Given the description of an element on the screen output the (x, y) to click on. 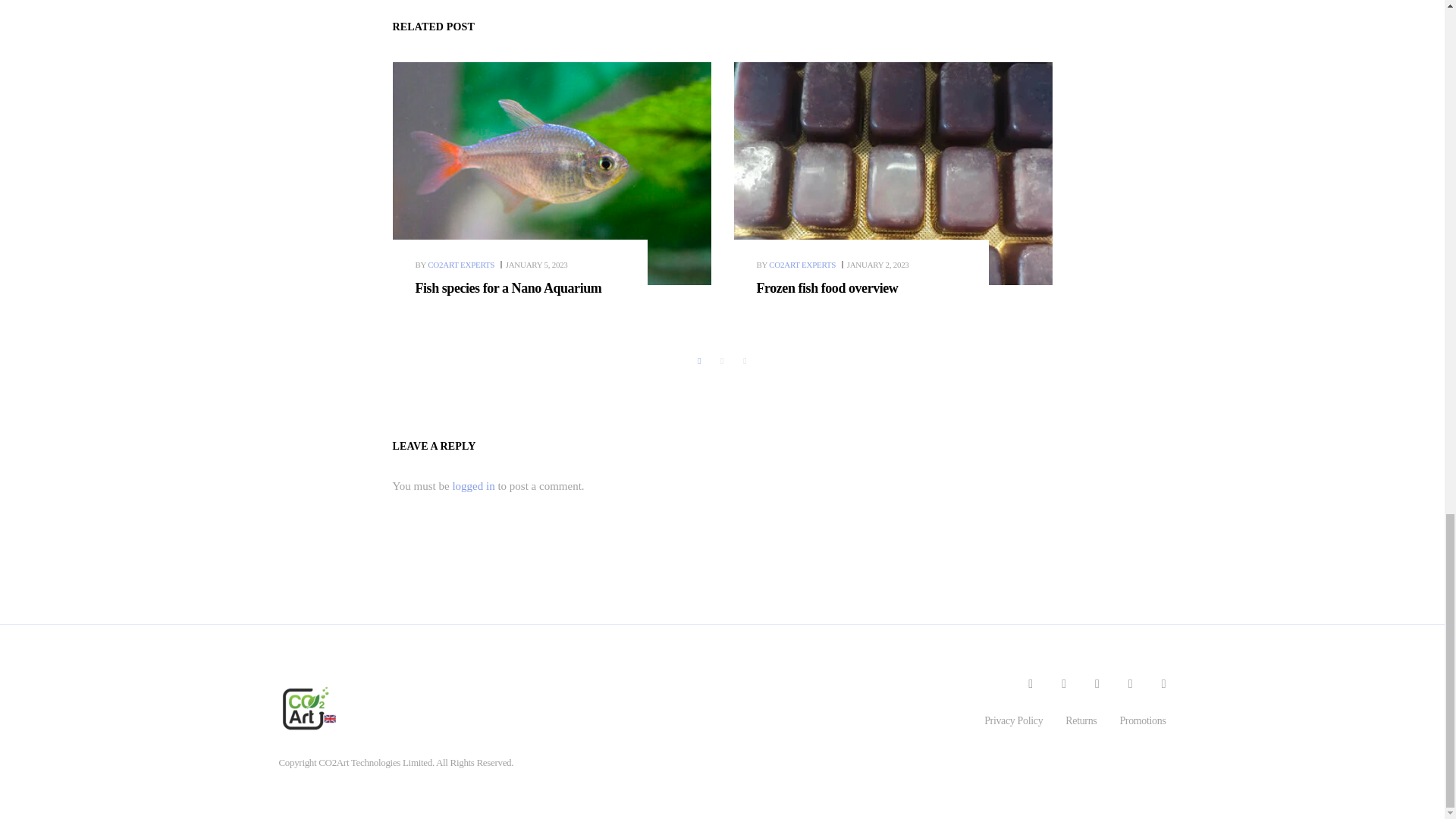
Fish species for a Nano Aquarium (508, 287)
JANUARY 2, 2023 (877, 264)
Fish species for a Nano Aquarium (536, 264)
BY CO2ART EXPERTS (797, 264)
Fish species for a Nano Aquarium (508, 287)
Frozen fish food overview (827, 287)
JANUARY 5, 2023 (536, 264)
Frozen fish food overview (892, 173)
Browse Author Articles (797, 264)
Frozen fish food overview (877, 264)
Browse Author Articles (455, 264)
Fish species for a Nano Aquarium (552, 173)
Frozen fish food overview (827, 287)
BY CO2ART EXPERTS (455, 264)
